Given the description of an element on the screen output the (x, y) to click on. 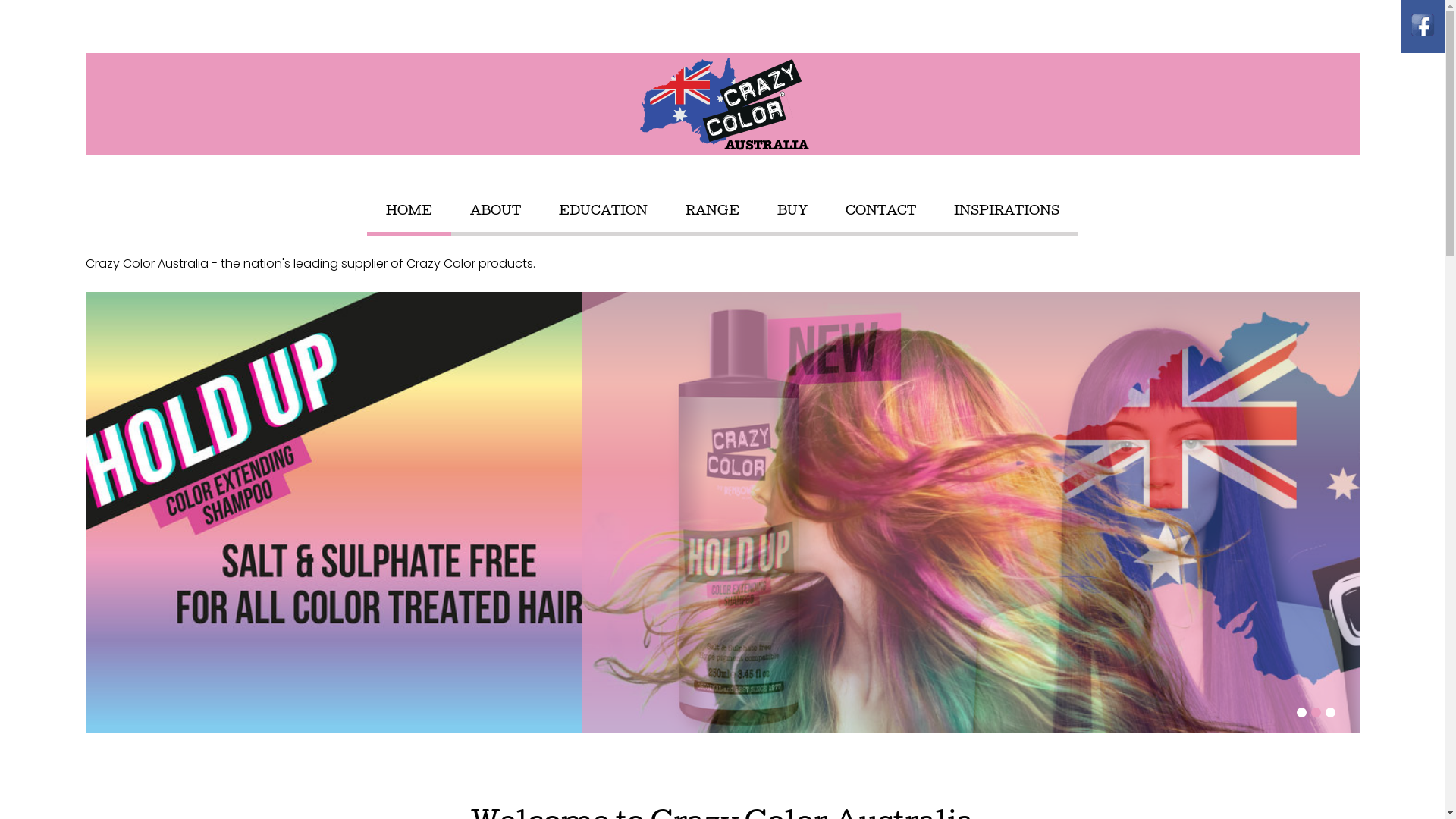
CONTACT Element type: text (879, 211)
INSPIRATIONS Element type: text (1006, 211)
HOME Element type: text (408, 211)
RANGE Element type: text (712, 212)
RANGE Element type: text (712, 211)
EDUCATION Element type: text (602, 211)
BUY Element type: text (791, 211)
INSPIRATIONS Element type: text (1006, 212)
BUY Element type: text (791, 212)
CONTACT Element type: text (879, 212)
EDUCATION Element type: text (602, 212)
ABOUT Element type: text (495, 212)
HOME Element type: text (408, 212)
ABOUT Element type: text (495, 211)
